Given the description of an element on the screen output the (x, y) to click on. 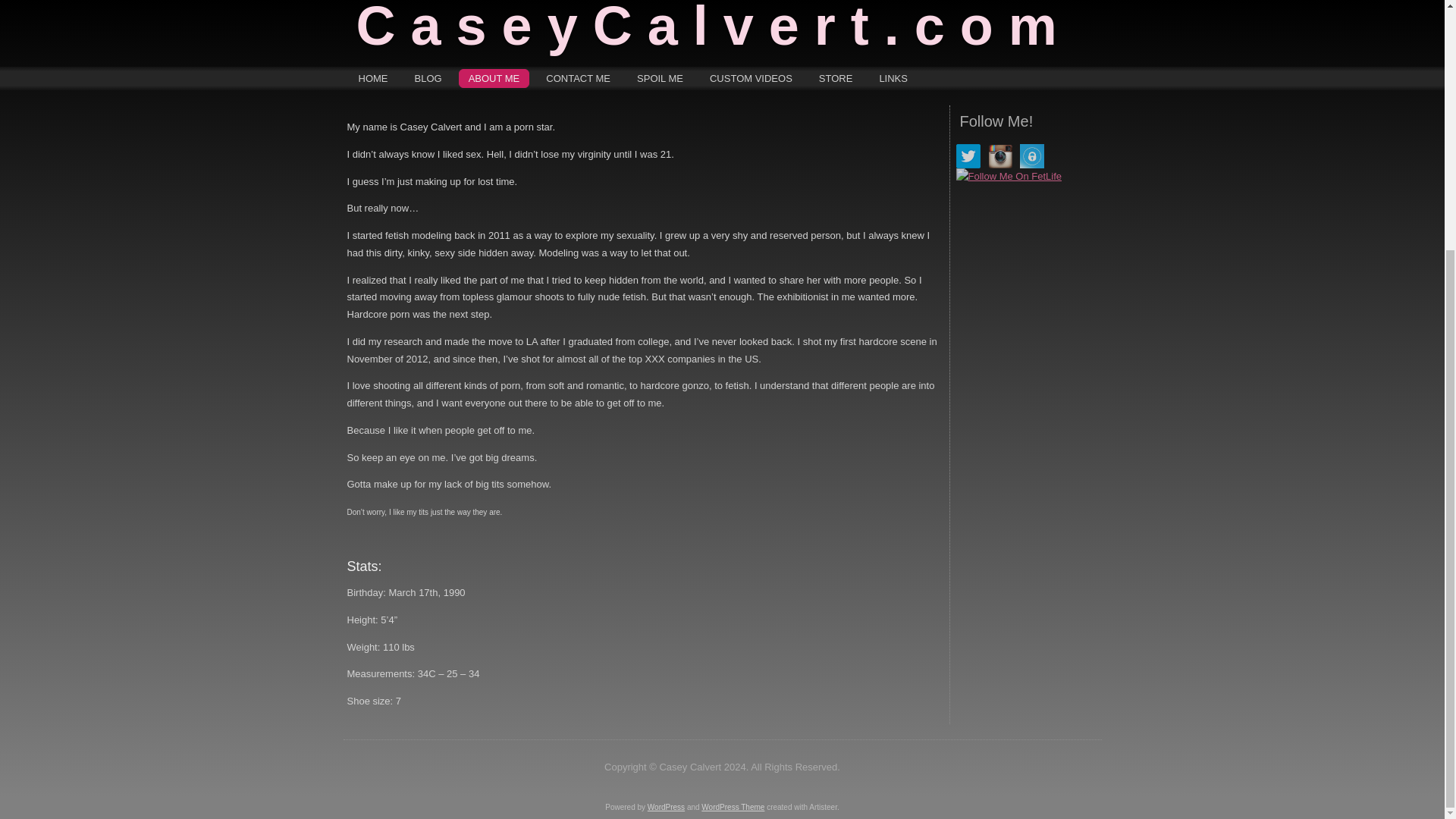
STORE (836, 77)
Store (836, 77)
CONTACT ME (577, 77)
LINKS (893, 77)
Home (373, 77)
Follow Me On OnlyFans (1031, 156)
Links (893, 77)
CUSTOM VIDEOS (751, 77)
Follow Me On Instagram (999, 156)
Blog (427, 77)
